Given the description of an element on the screen output the (x, y) to click on. 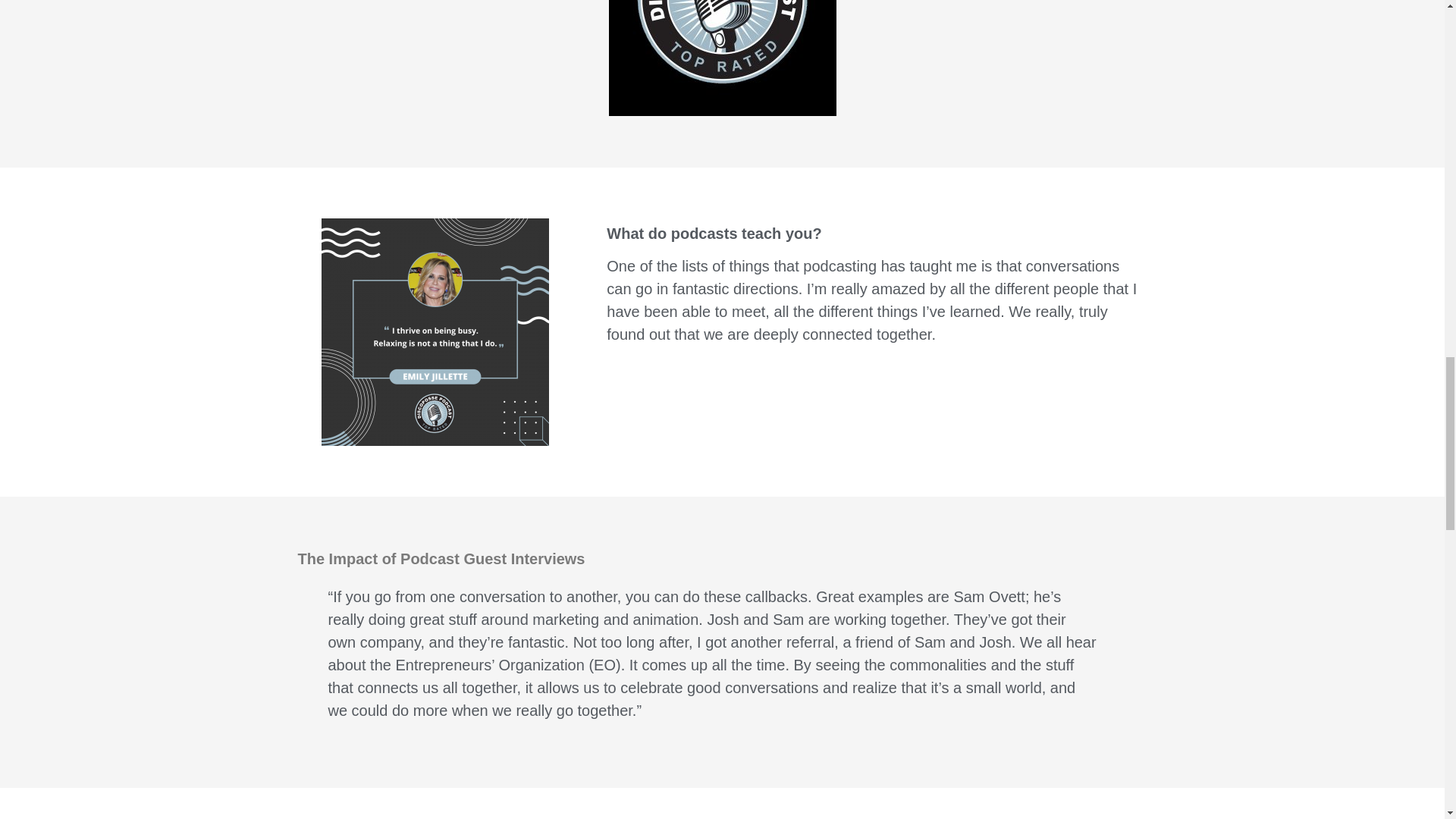
Eric Wright Case Study 1 (721, 58)
Eric Wright Case Study 2 (434, 331)
